Given the description of an element on the screen output the (x, y) to click on. 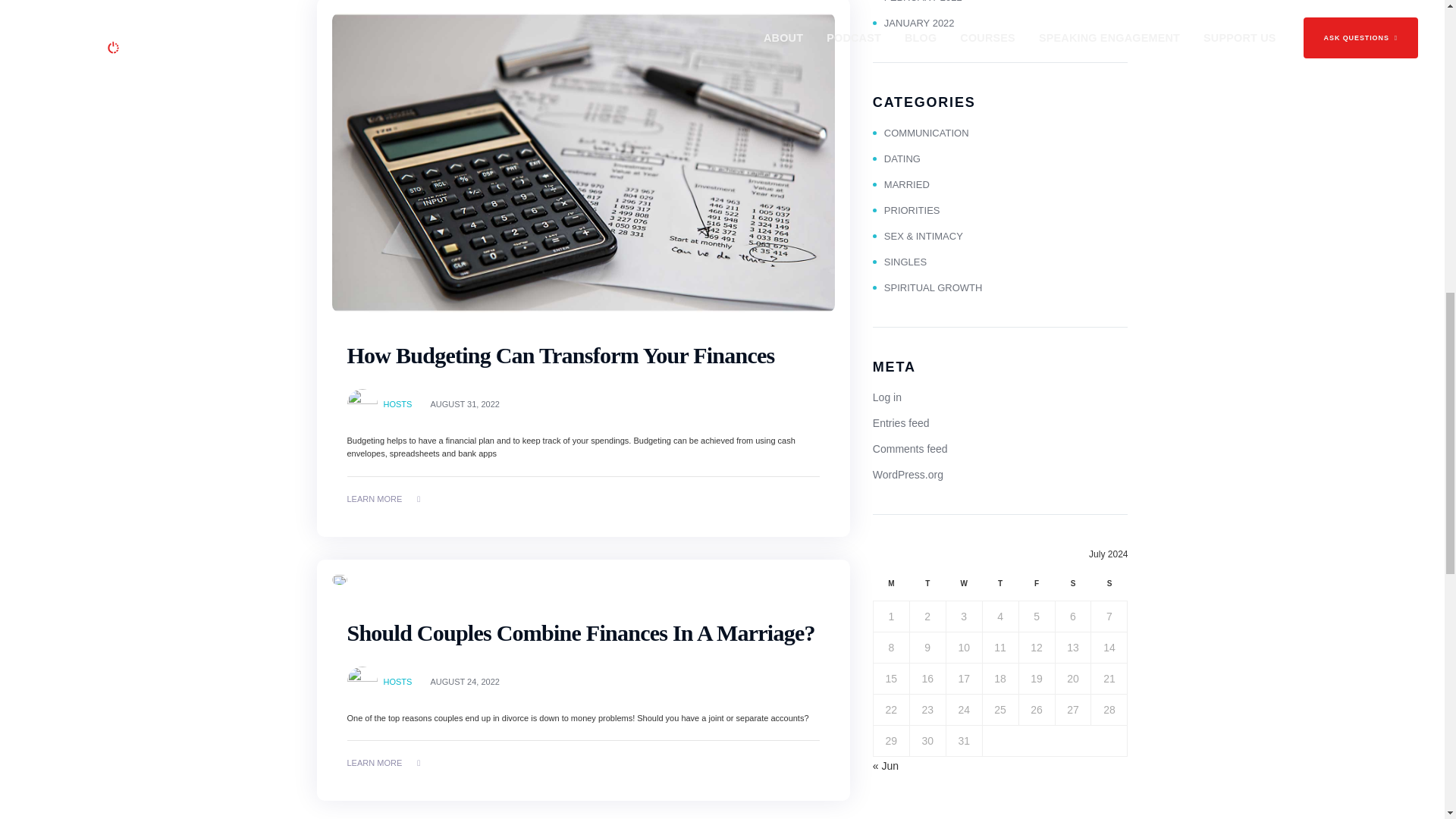
HOSTS (398, 681)
Thursday (999, 587)
LEARN MORE (383, 499)
Tuesday (926, 587)
FEBRUARY 2022 (917, 1)
Sunday (1108, 587)
Monday (890, 587)
HOSTS (398, 403)
Should Couples Combine Finances In A Marriage? (581, 632)
Friday (1035, 587)
Wednesday (962, 587)
Saturday (1072, 587)
LEARN MORE (383, 763)
How Budgeting Can Transform Your Finances (560, 355)
